Given the description of an element on the screen output the (x, y) to click on. 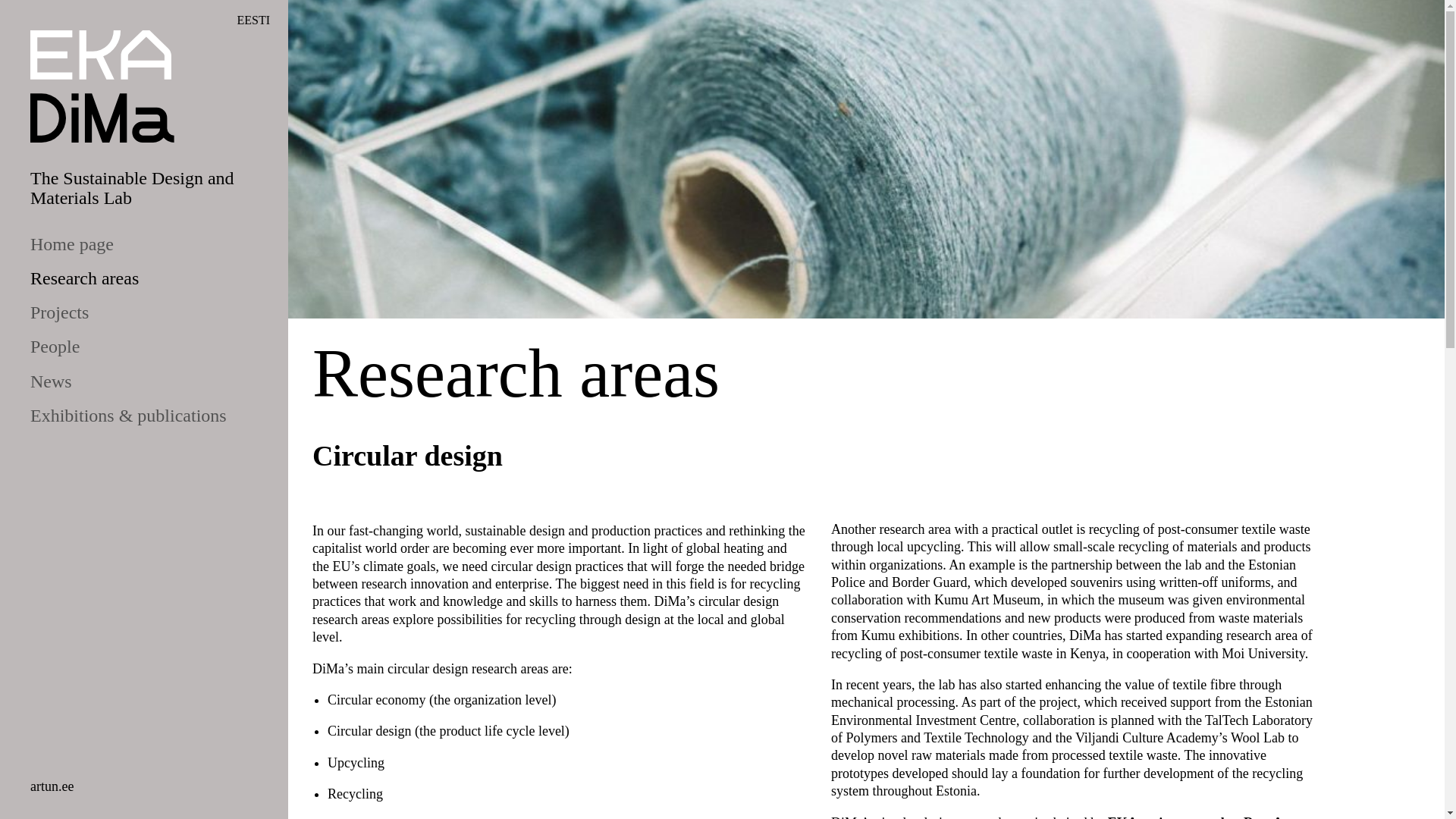
EESTI (252, 20)
The Sustainable Design and Materials Lab (132, 188)
artun.ee (52, 785)
EESTI (252, 19)
Projects (49, 312)
News (41, 381)
People (45, 346)
Research areas (74, 278)
Home page (62, 244)
